Given the description of an element on the screen output the (x, y) to click on. 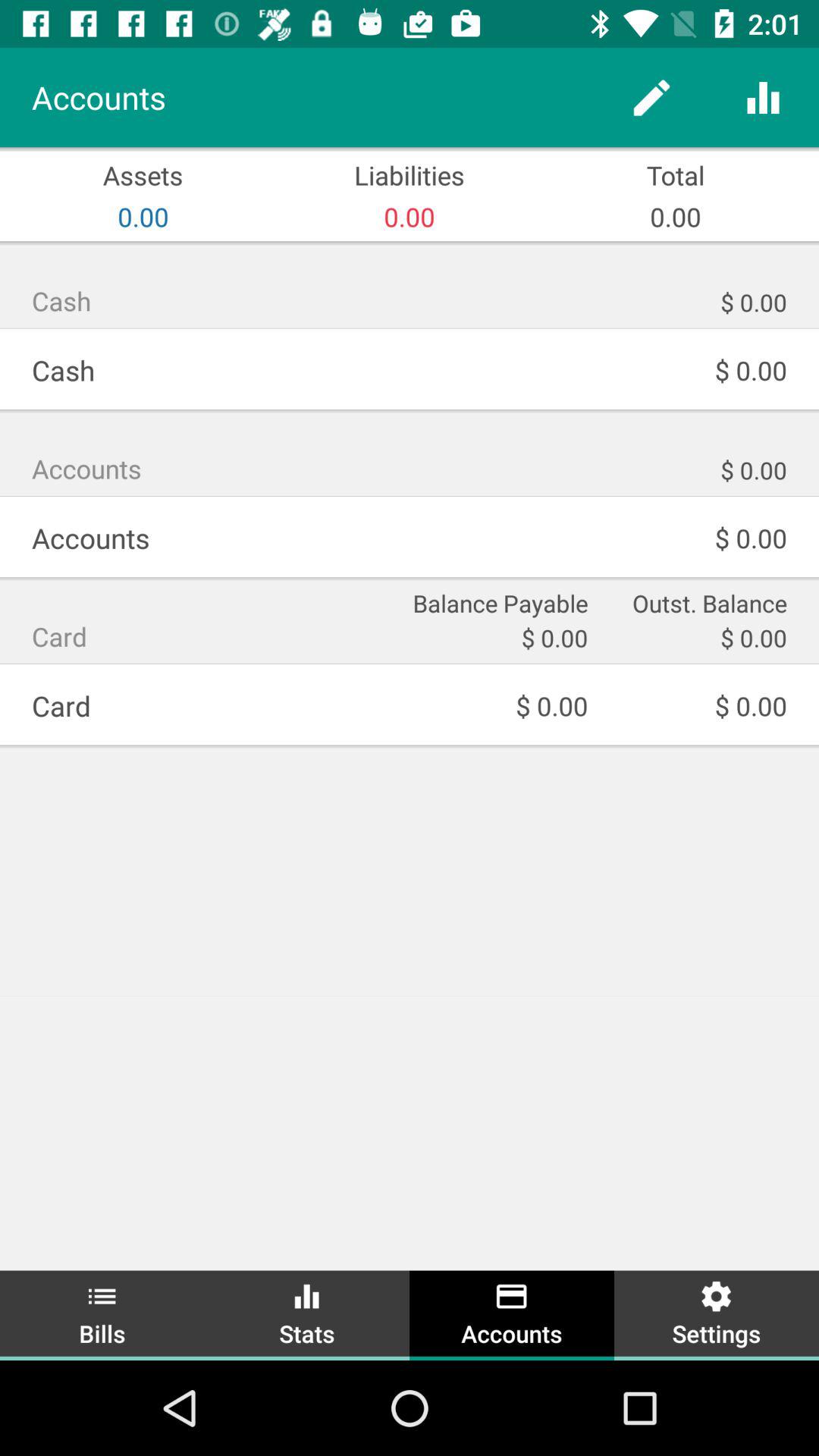
choose the icon below the $ 0.00 icon (306, 1313)
